Given the description of an element on the screen output the (x, y) to click on. 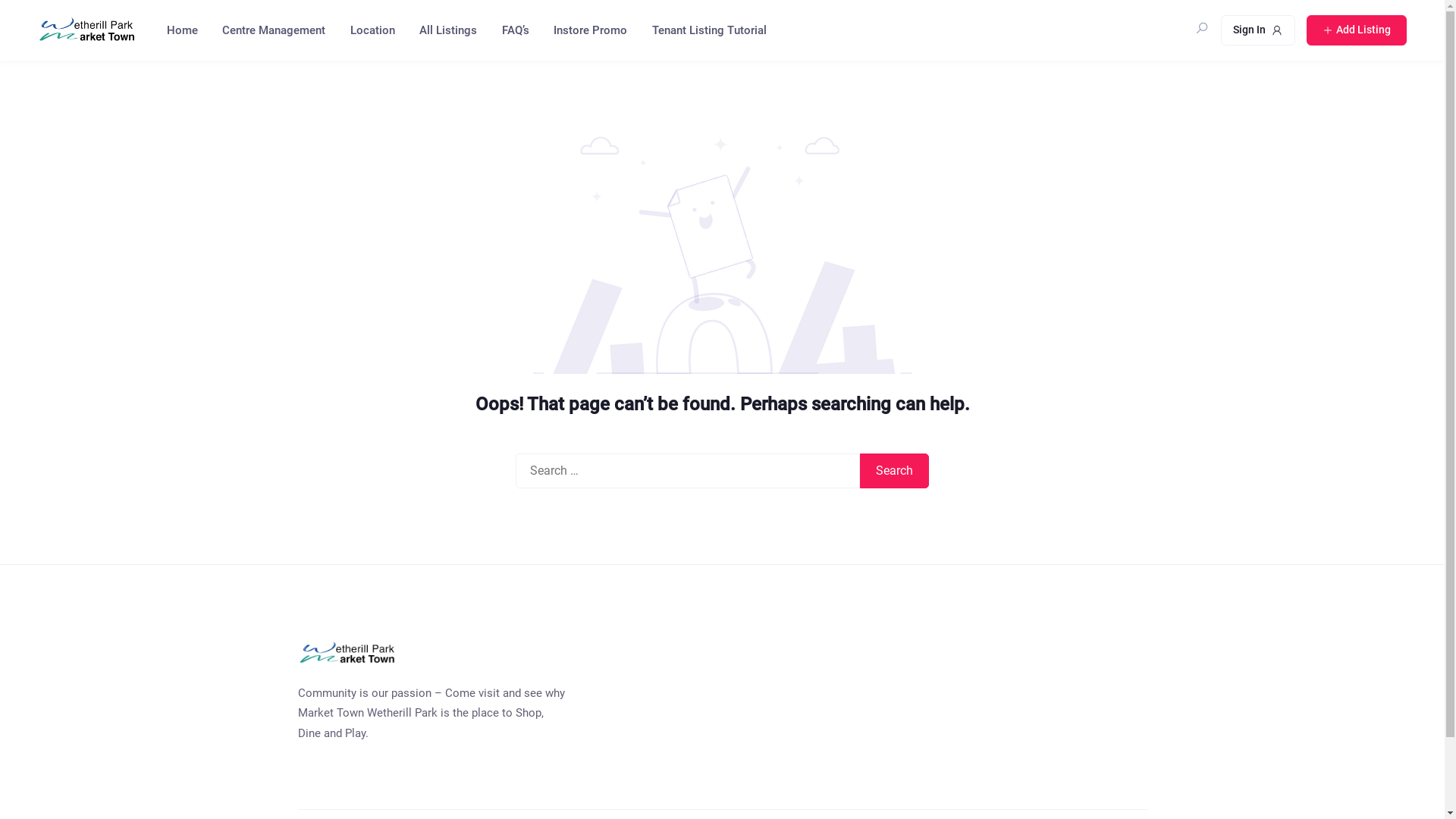
Centre Management Element type: text (272, 30)
Sign In Element type: text (1257, 30)
Add Listing Element type: text (1356, 30)
Location Element type: text (371, 30)
Home Element type: text (180, 30)
Instore Promo Element type: text (589, 30)
All Listings Element type: text (446, 30)
Tenant Listing Tutorial Element type: text (708, 30)
Search Element type: text (893, 470)
